Given the description of an element on the screen output the (x, y) to click on. 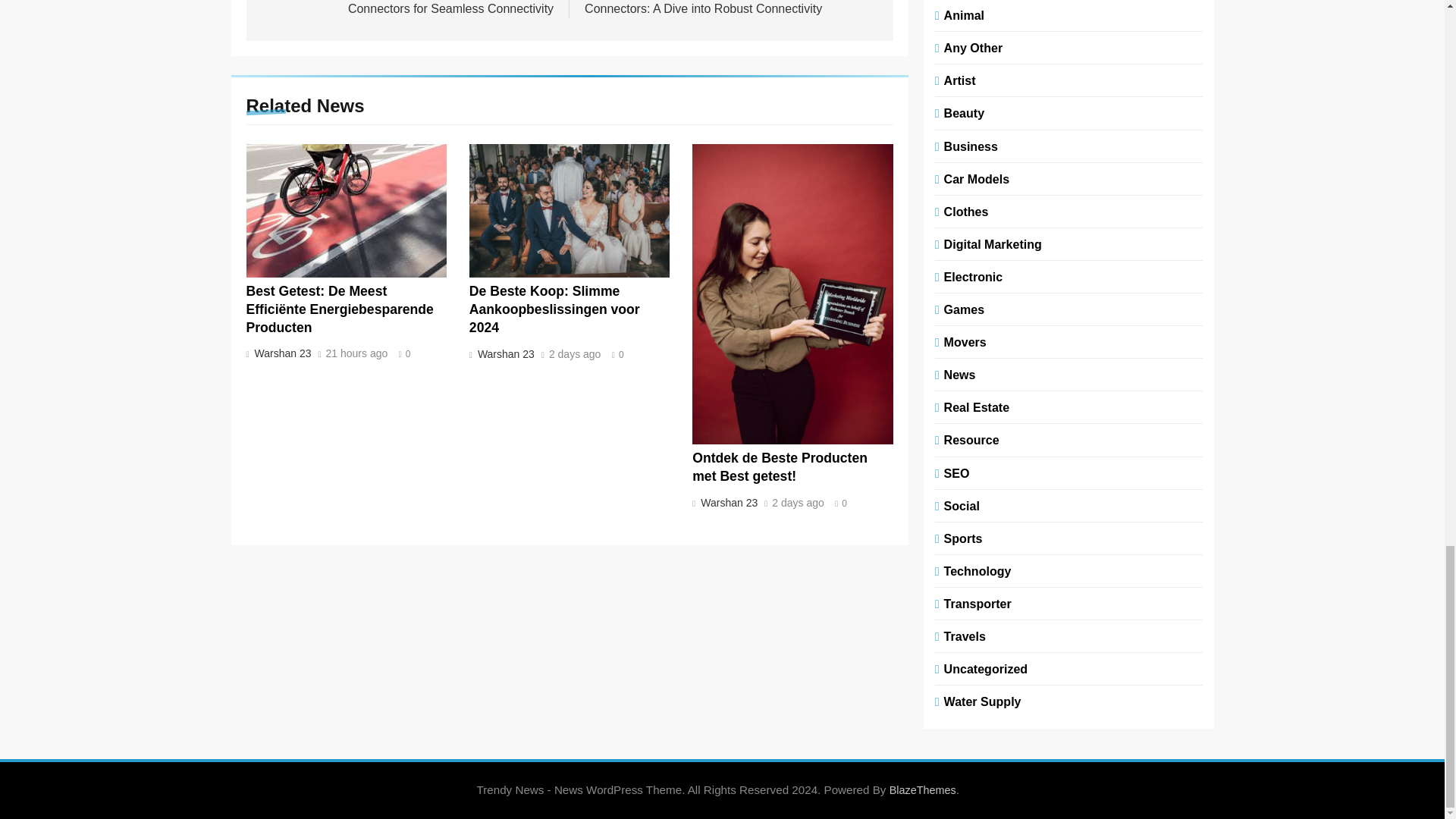
Ontdek de Beste Producten met Best getest! (780, 467)
De Beste Koop: Slimme Aankoopbeslissingen voor 2024 (554, 308)
21 hours ago (357, 353)
Warshan 23 (280, 353)
2 days ago (574, 354)
Warshan 23 (504, 354)
2 days ago (797, 502)
Warshan 23 (727, 502)
